Given the description of an element on the screen output the (x, y) to click on. 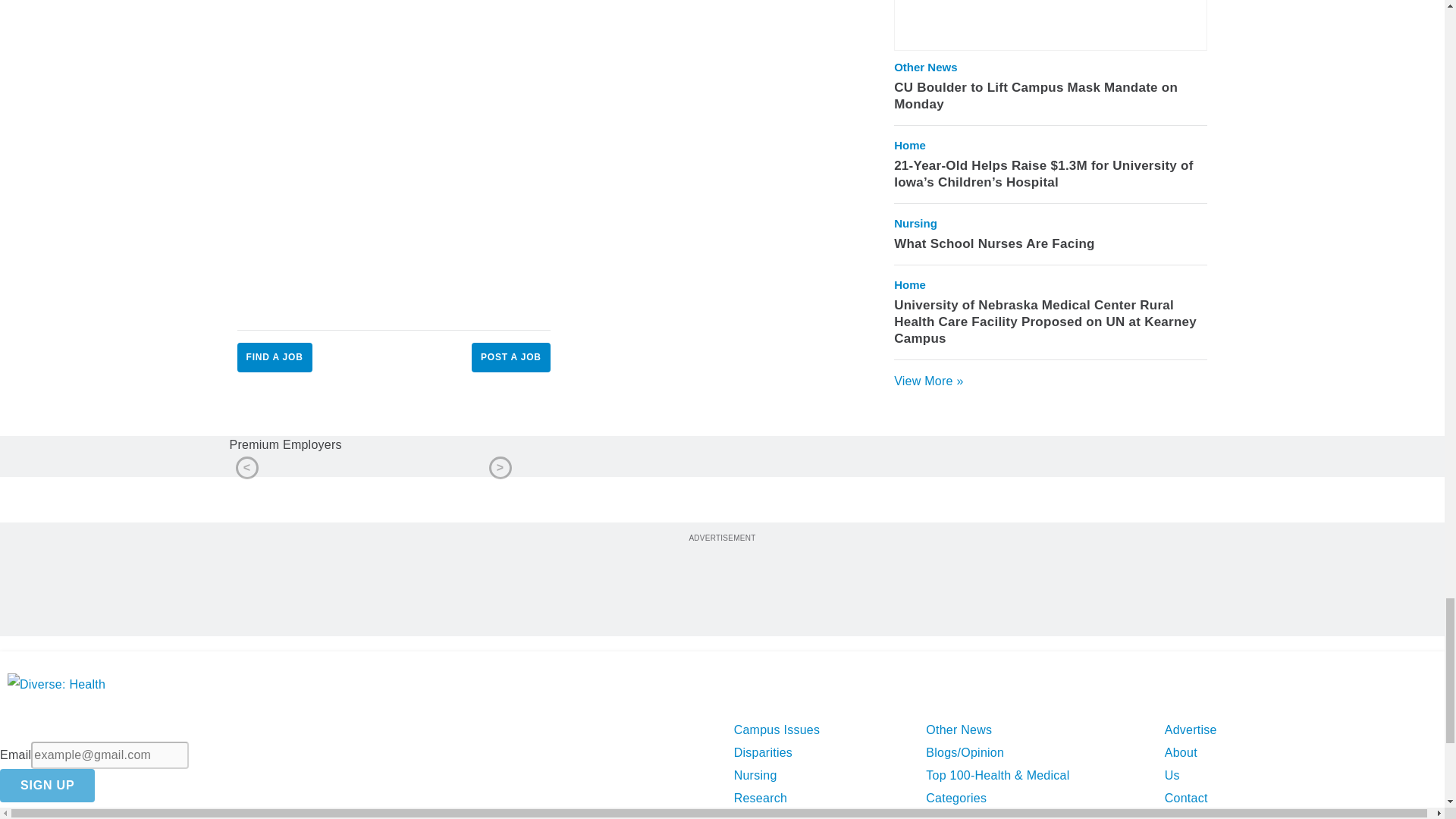
Home (909, 284)
Home (909, 145)
Other News (924, 67)
Nursing (915, 223)
